Given the description of an element on the screen output the (x, y) to click on. 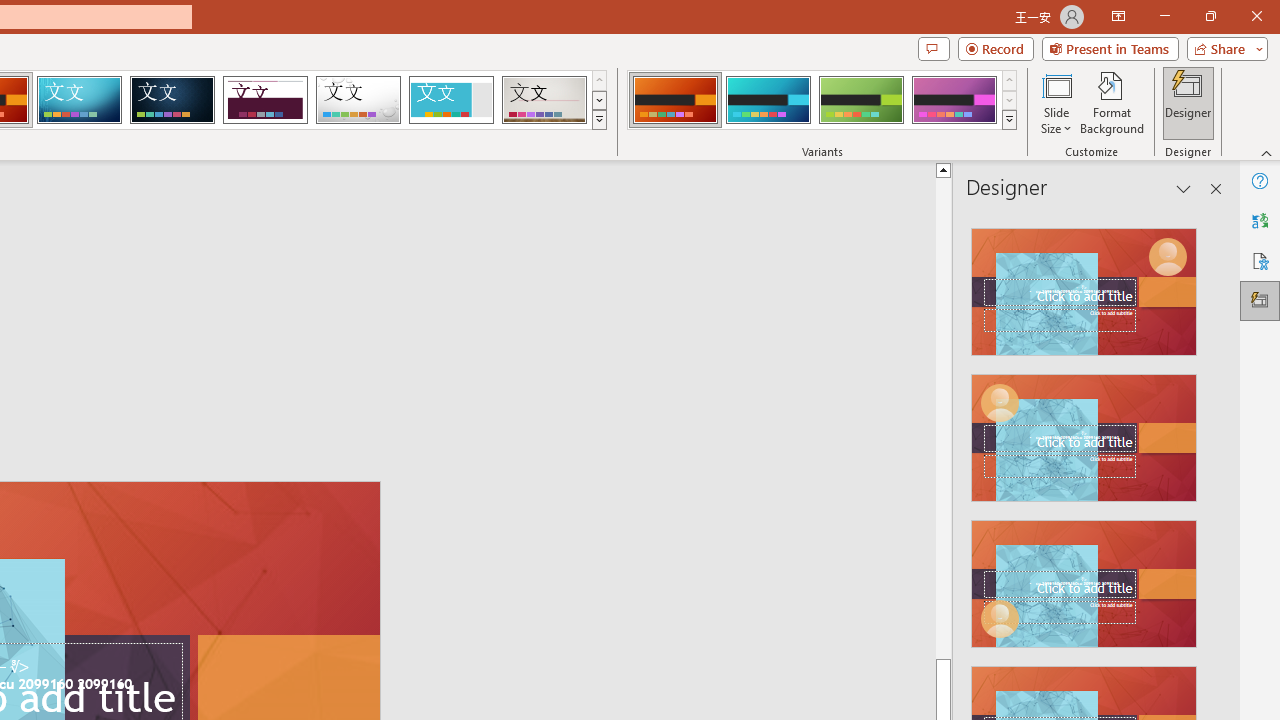
Variants (1009, 120)
Gallery (544, 100)
Berlin Variant 4 (953, 100)
AutomationID: ThemeVariantsGallery (822, 99)
Frame (450, 100)
Circuit (79, 100)
Design Idea (1083, 577)
Droplet (358, 100)
Damask (171, 100)
